Given the description of an element on the screen output the (x, y) to click on. 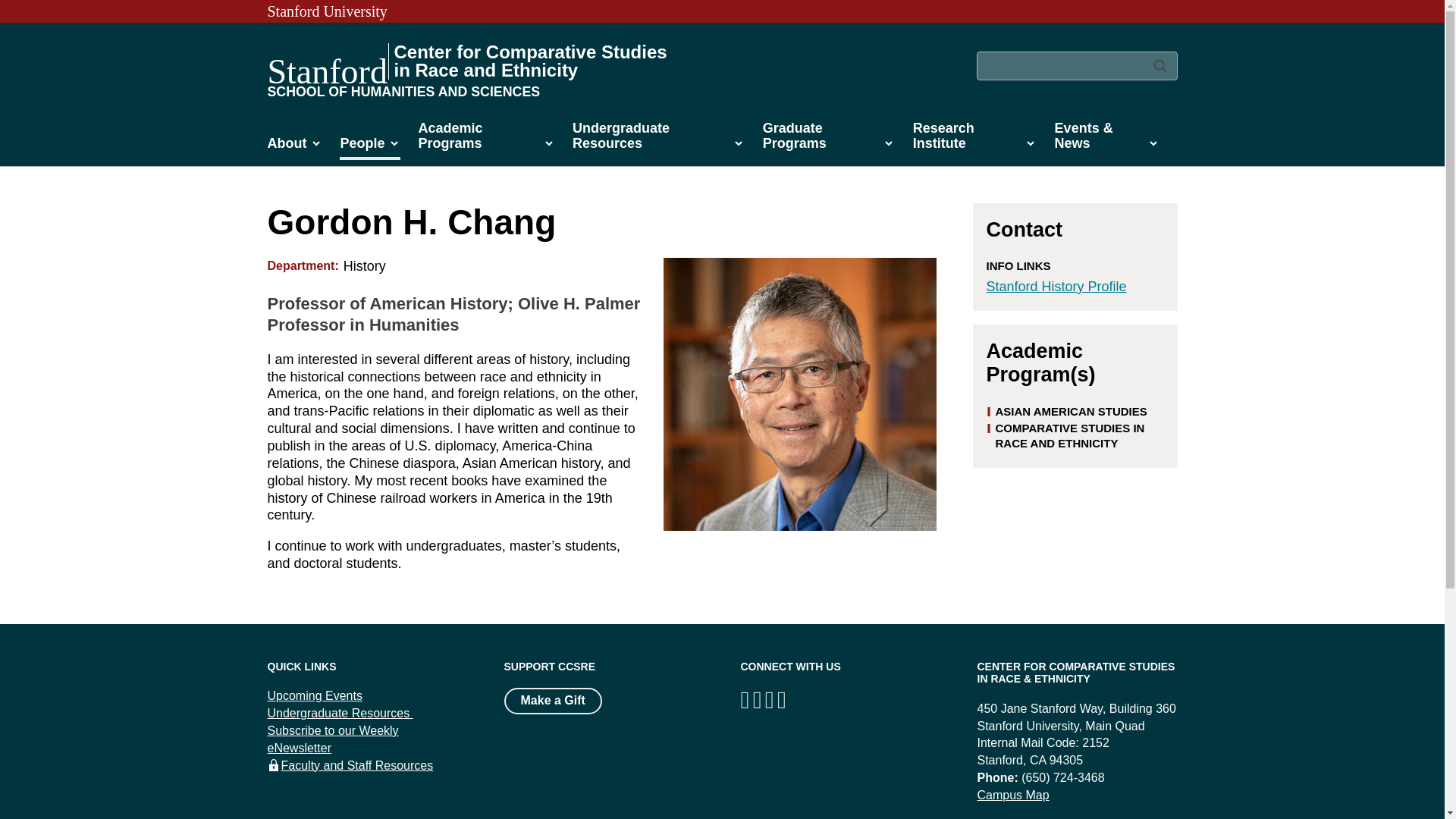
Academic Programs (486, 140)
Undergraduate Resources (658, 140)
Stanford University (326, 11)
About (293, 147)
People (368, 147)
